Given the description of an element on the screen output the (x, y) to click on. 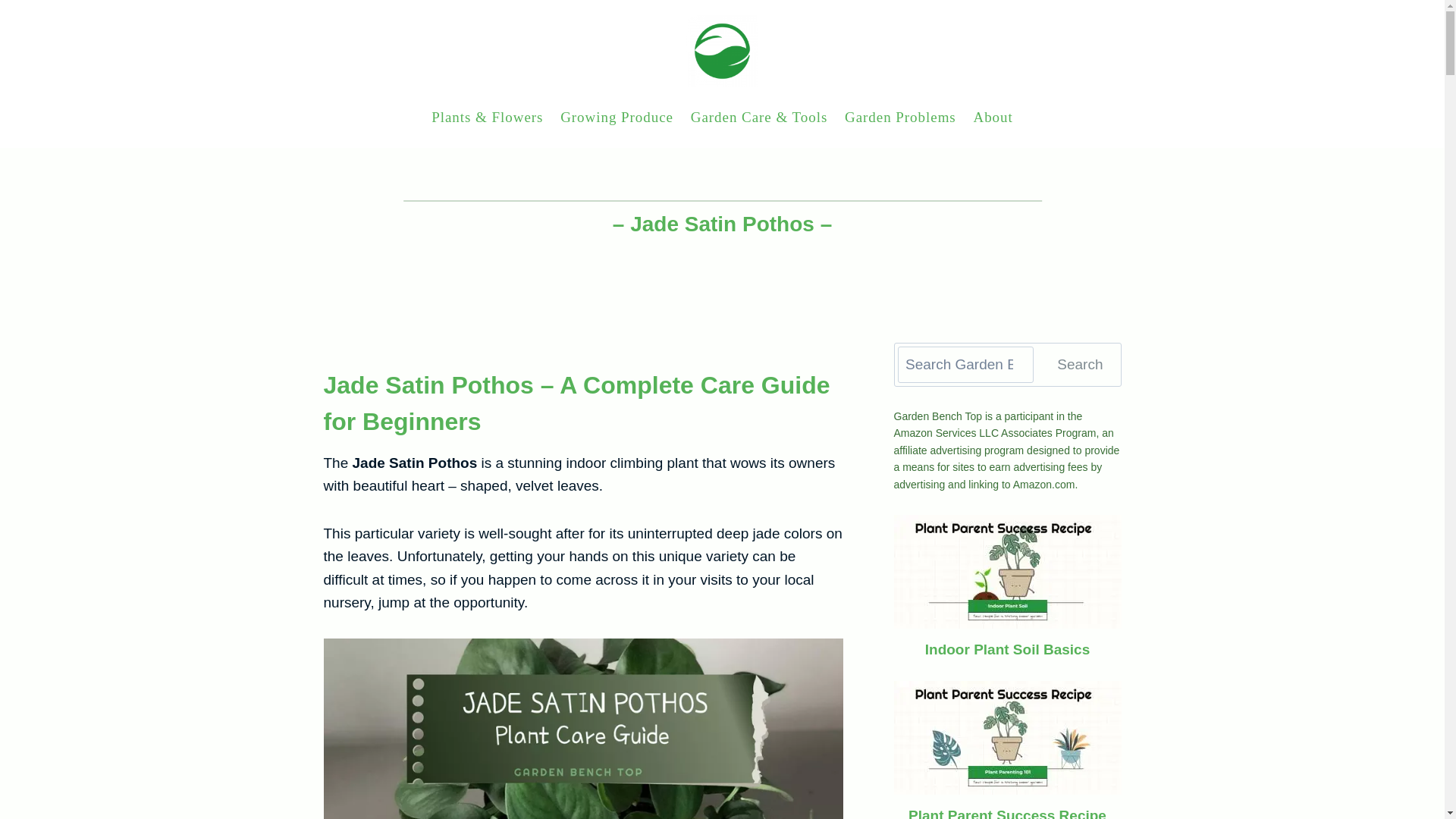
Growing Produce (616, 117)
Garden Problems (899, 117)
About (992, 117)
